Given the description of an element on the screen output the (x, y) to click on. 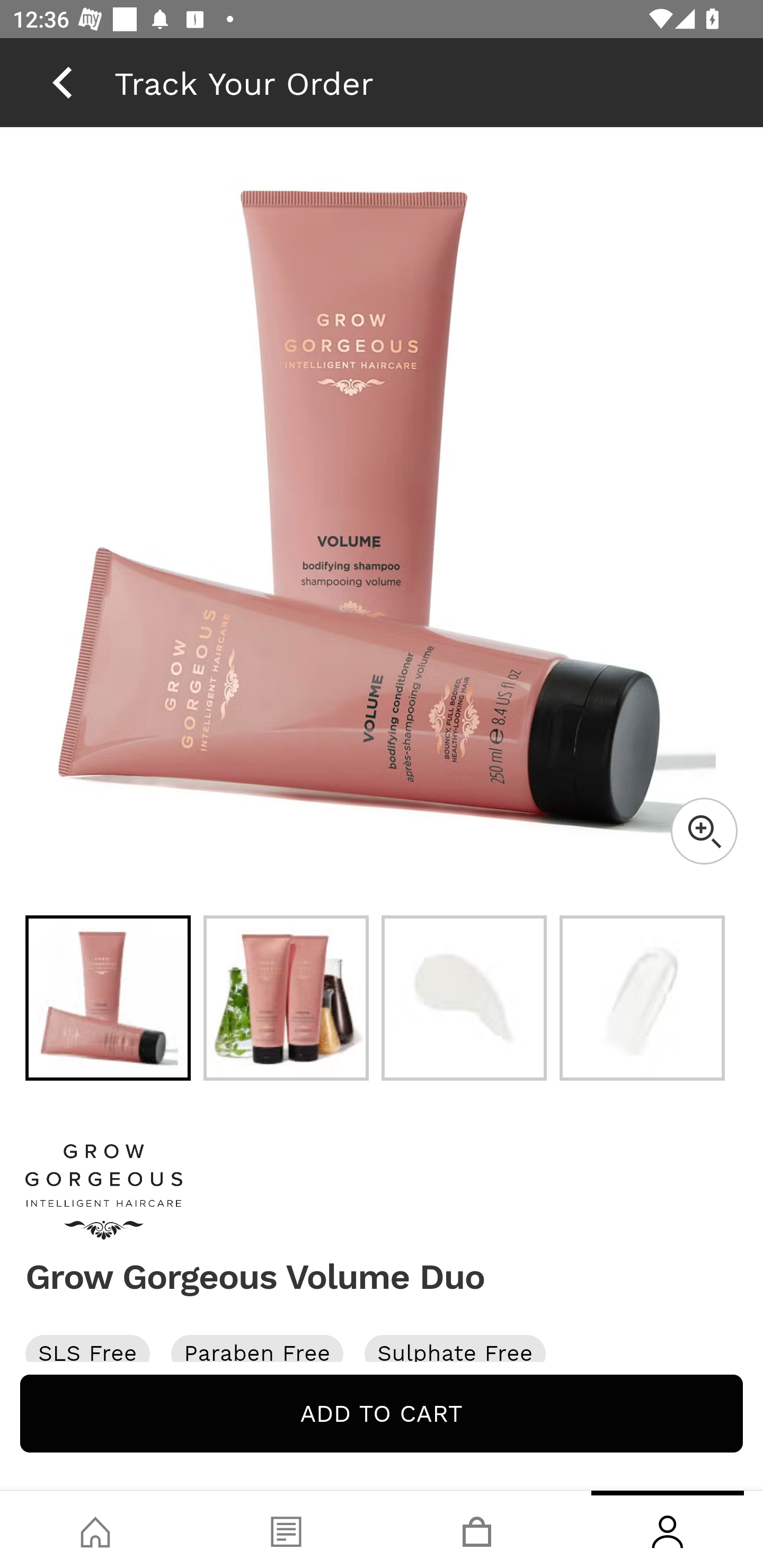
back (61, 82)
Zoom (703, 830)
Open image 1 - Grow Gorgeous Volume Duo (107, 997)
Open image 2 - Grow Gorgeous Volume Duo (285, 997)
Open image 3 - Grow Gorgeous Volume Duo (464, 997)
Open image 4 - Grow Gorgeous Volume Duo (641, 997)
Grow Gorgeous (381, 1192)
Add to cart (381, 1413)
Shop, tab, 1 of 4 (95, 1529)
Blog, tab, 2 of 4 (285, 1529)
Basket, tab, 3 of 4 (476, 1529)
Account, tab, 4 of 4 (667, 1529)
